Given the description of an element on the screen output the (x, y) to click on. 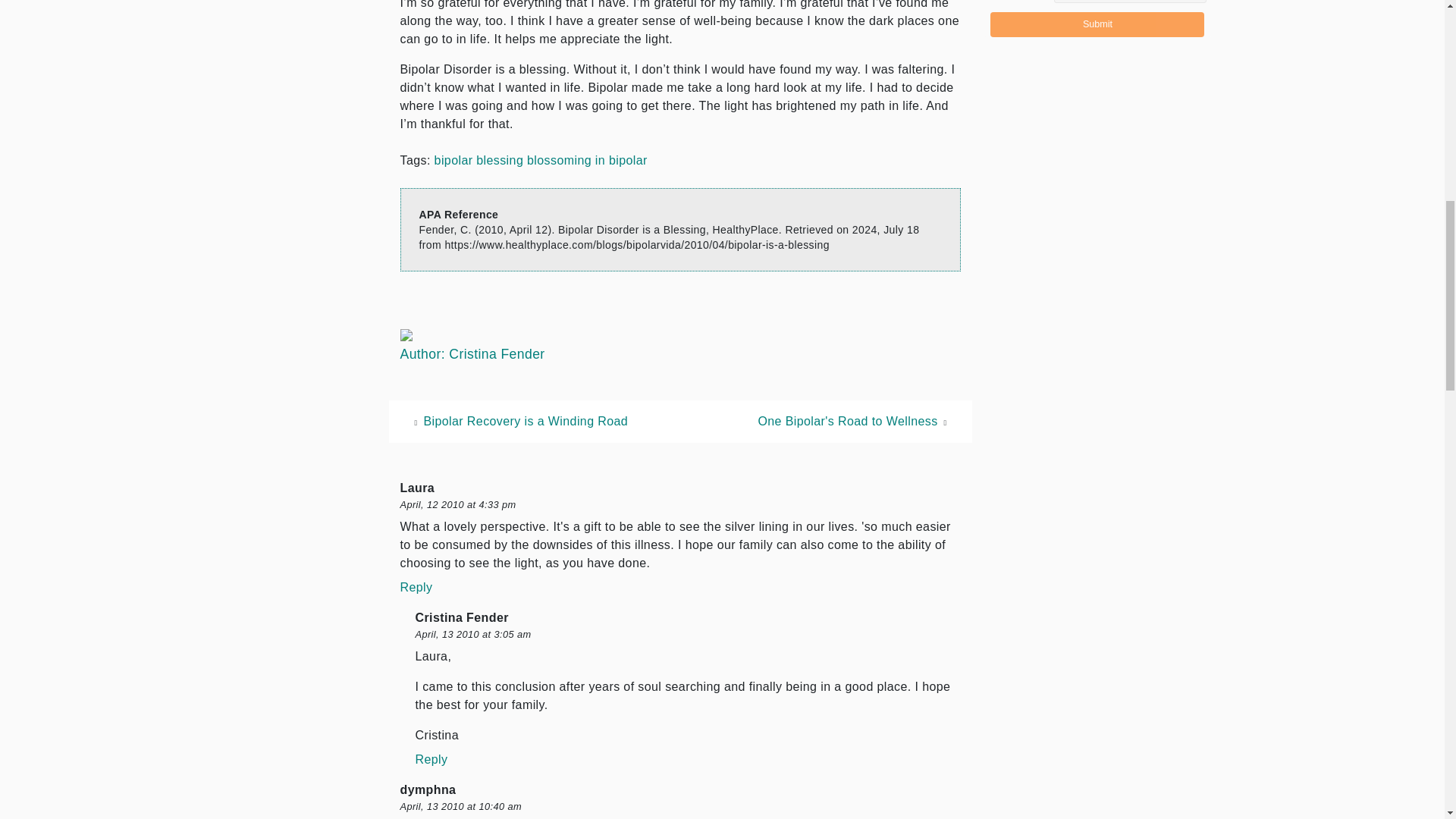
Submit (1097, 24)
